Given the description of an element on the screen output the (x, y) to click on. 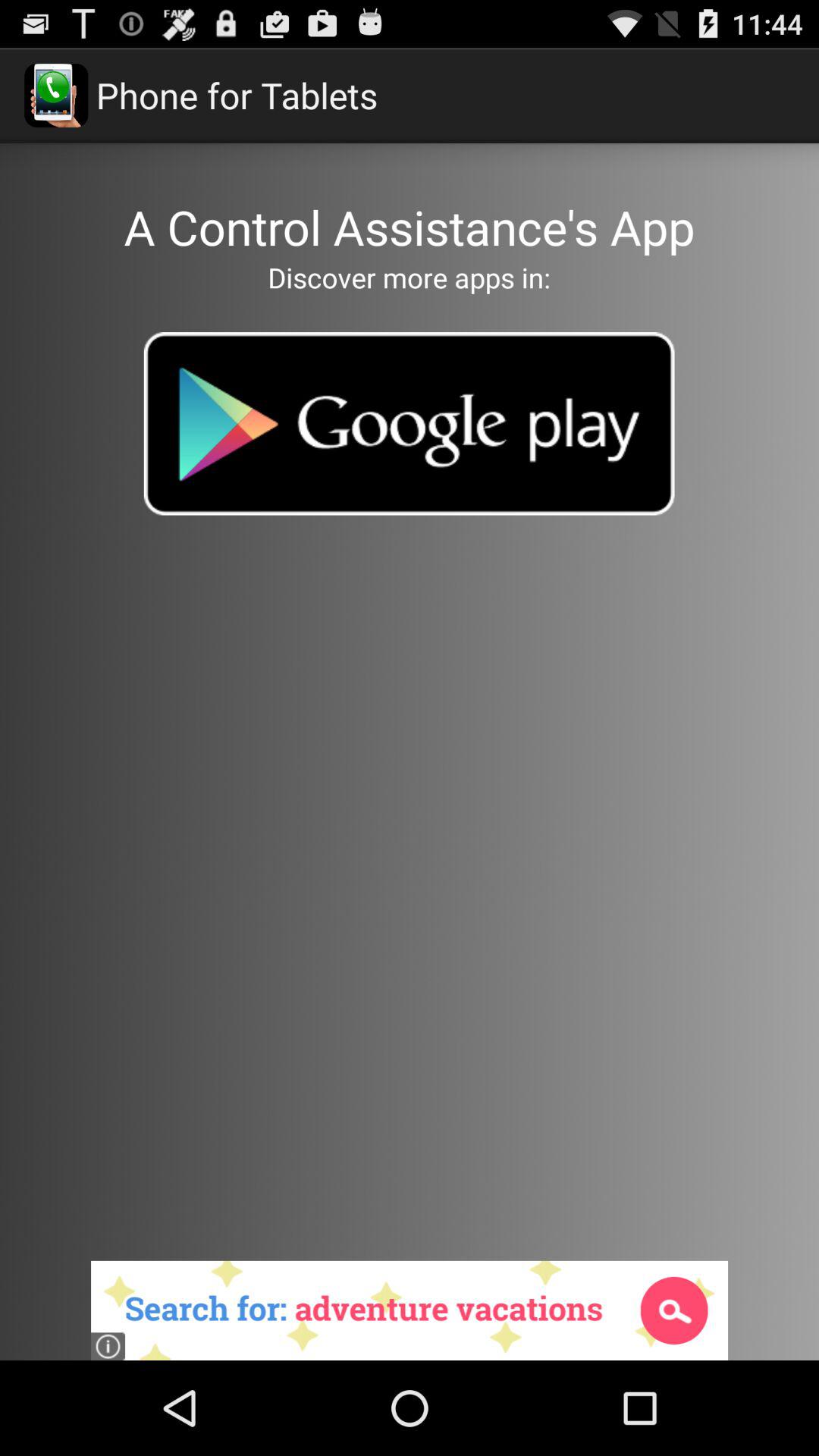
go to google play (408, 423)
